Given the description of an element on the screen output the (x, y) to click on. 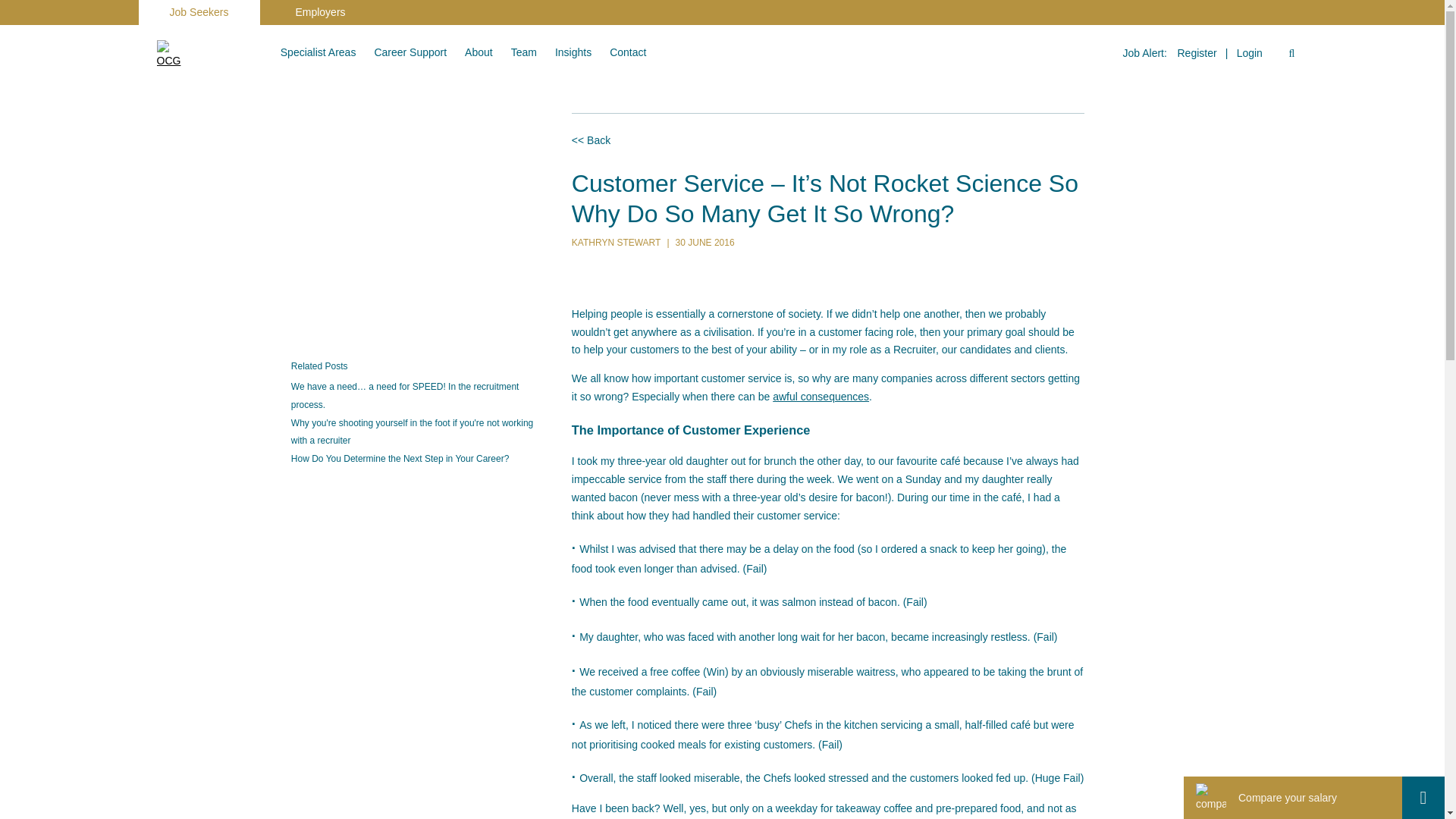
Team (524, 51)
Contact (628, 51)
Specialist Areas (318, 51)
Compare your salary (1259, 797)
Insights (572, 51)
Employers (319, 12)
Job Seekers (198, 12)
About (478, 51)
Career Support (410, 51)
